Given the description of an element on the screen output the (x, y) to click on. 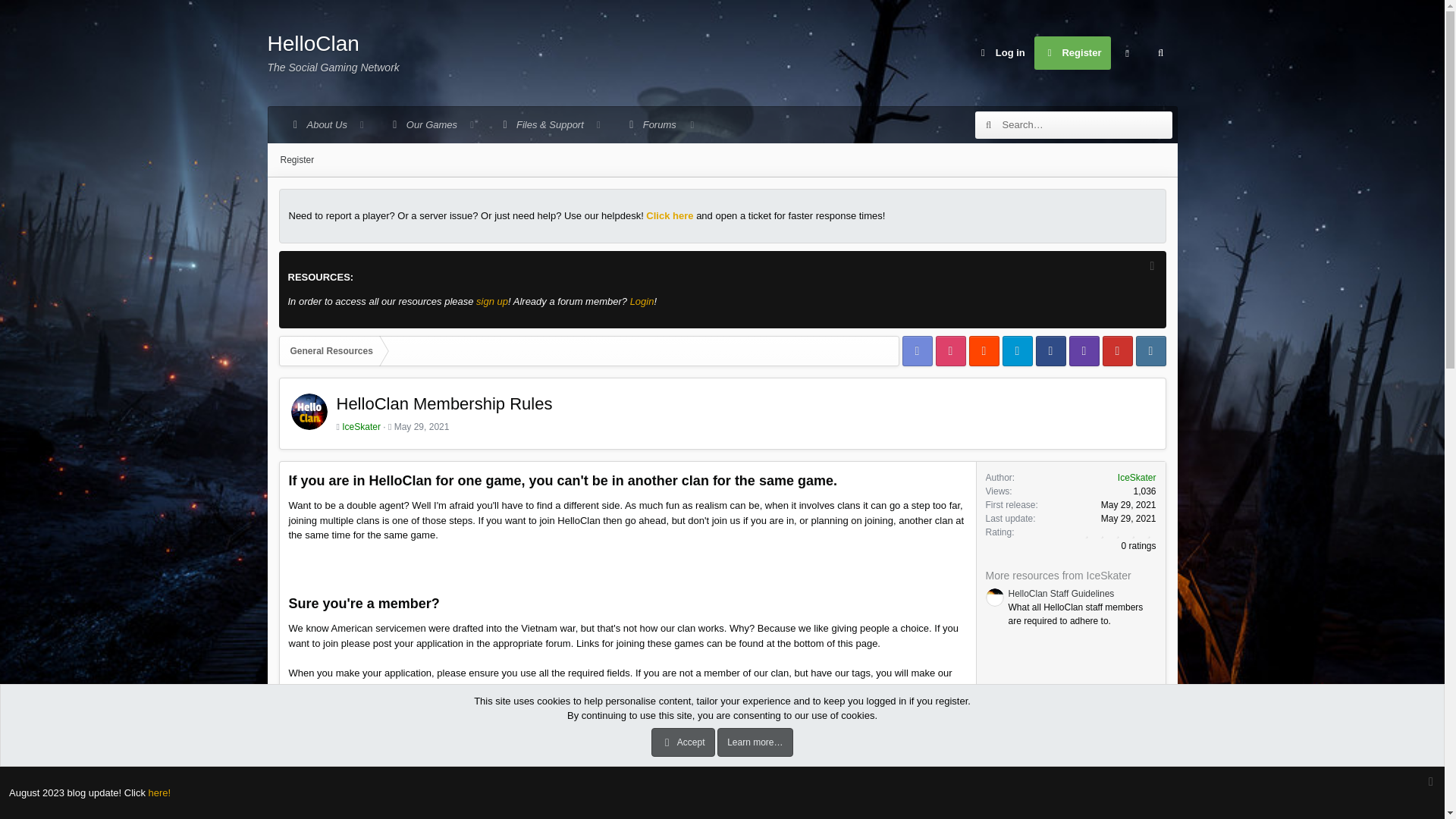
Register (332, 53)
Customize (1071, 52)
May 29, 2021 at 12:56 PM (1125, 52)
Log in (421, 426)
Our Games (1000, 52)
Search (427, 125)
May 29, 2021 at 12:56 PM (1159, 52)
About Us (1128, 504)
Register (322, 125)
May 29, 2021 at 12:56 PM (722, 159)
